Given the description of an element on the screen output the (x, y) to click on. 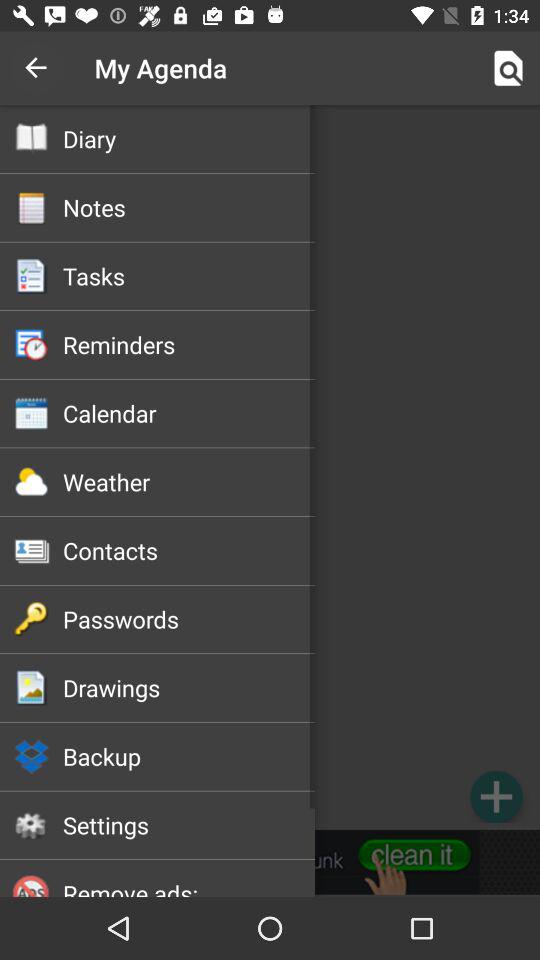
tap weather (188, 482)
